Given the description of an element on the screen output the (x, y) to click on. 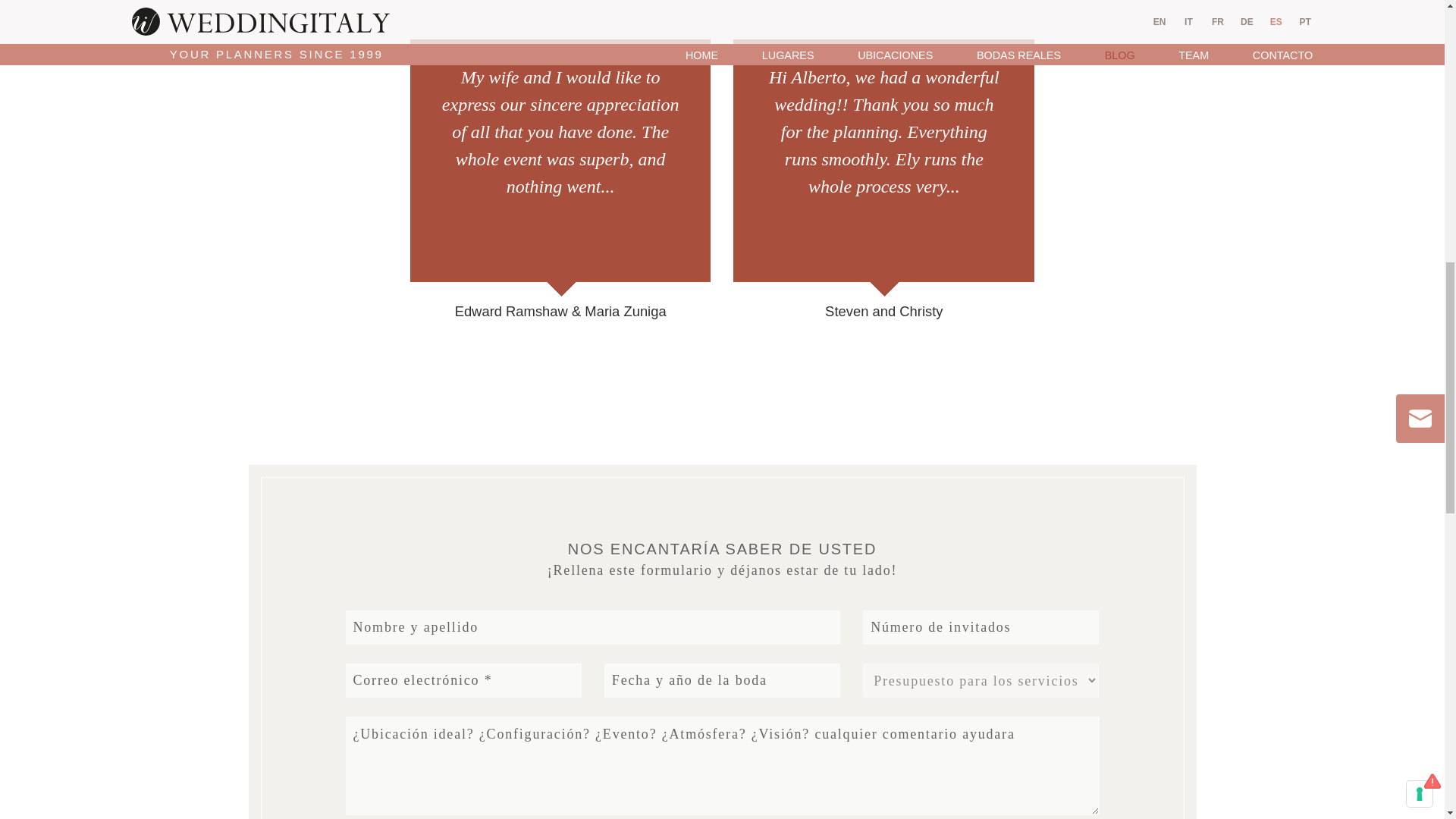
Notas adicionales (722, 765)
Nombre y apellido (593, 627)
Presupuesto para los servicios de la boda (981, 680)
